Given the description of an element on the screen output the (x, y) to click on. 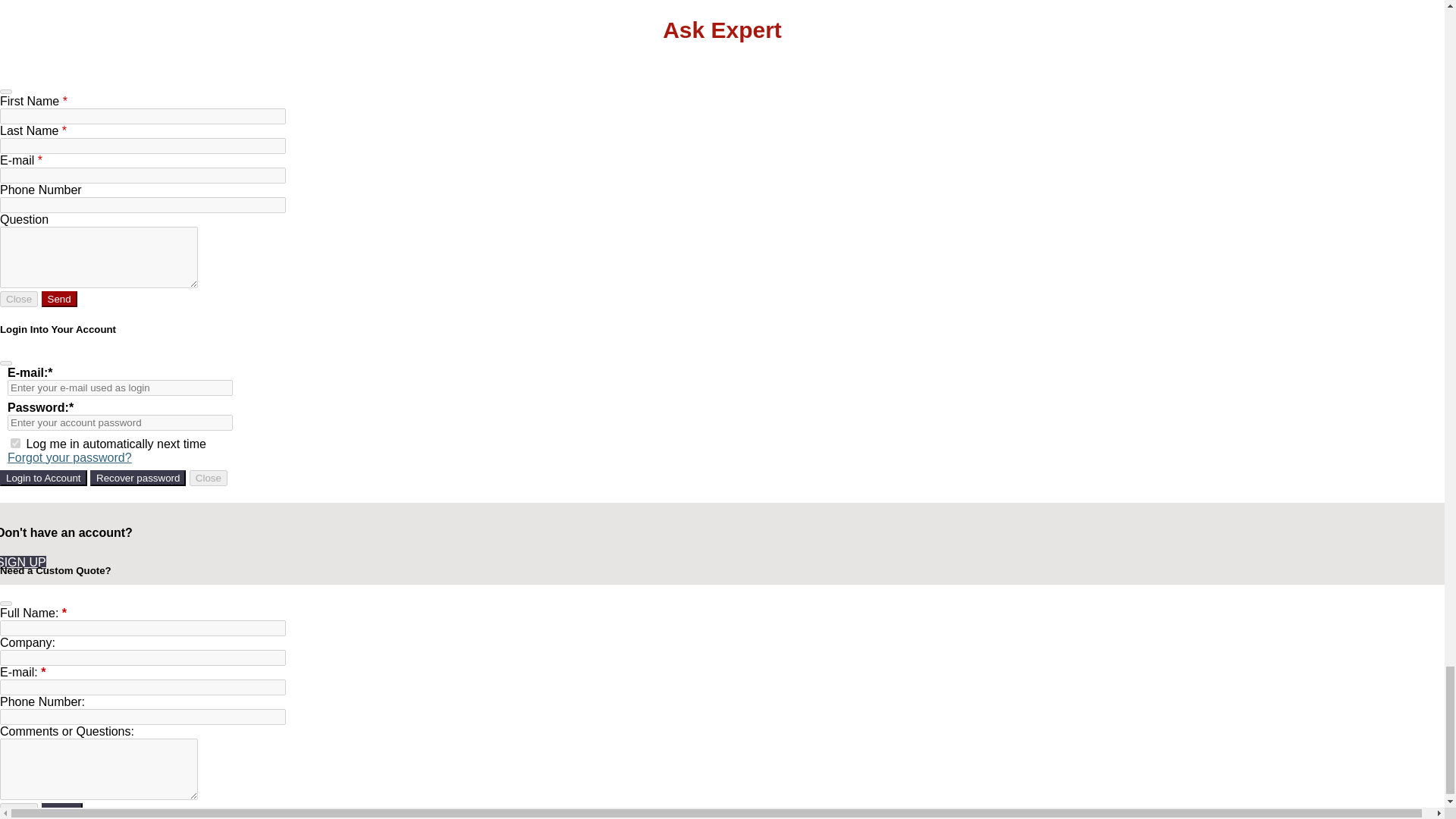
1 (15, 442)
